Given the description of an element on the screen output the (x, y) to click on. 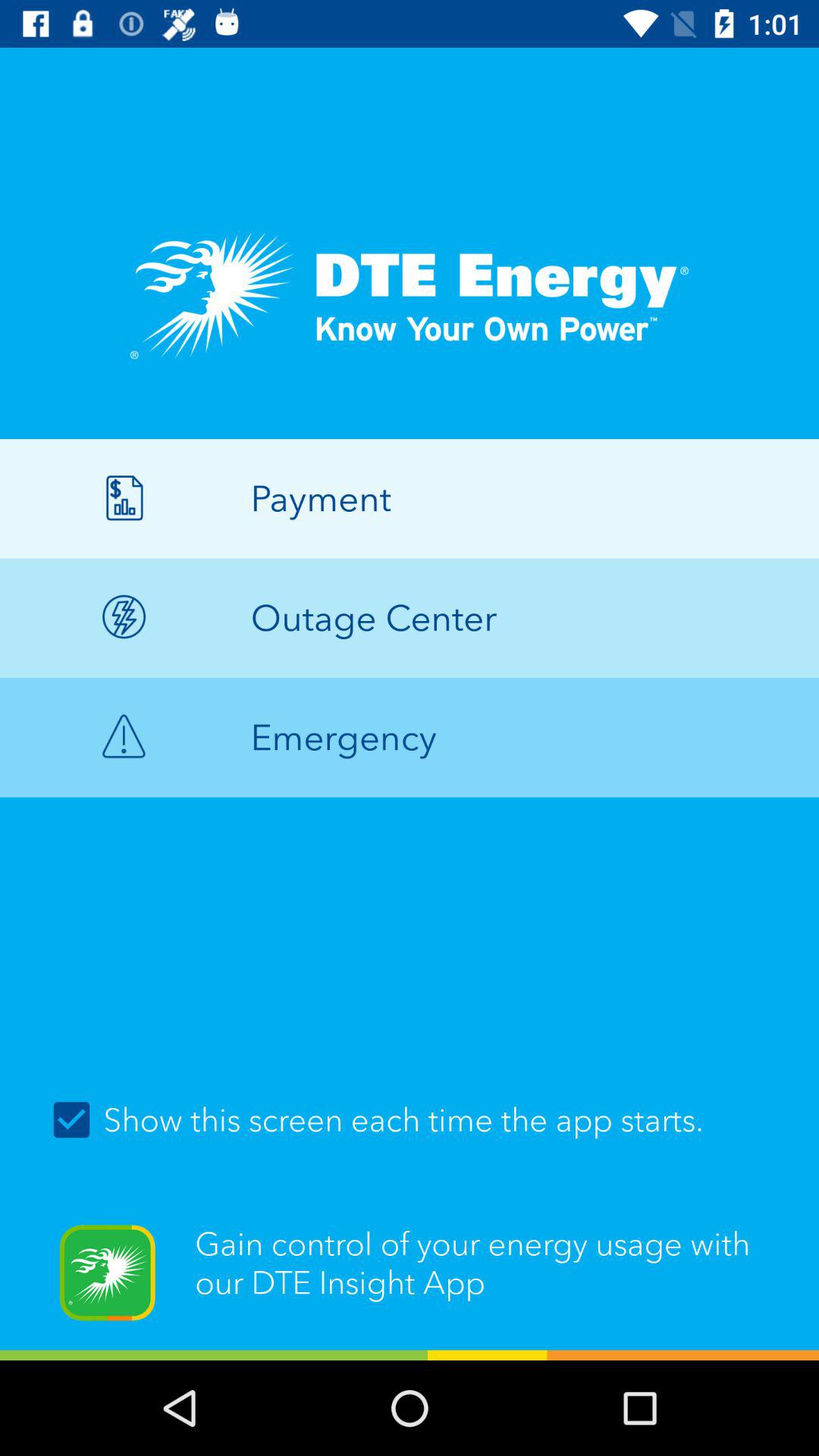
turn on item above show this screen (409, 737)
